Given the description of an element on the screen output the (x, y) to click on. 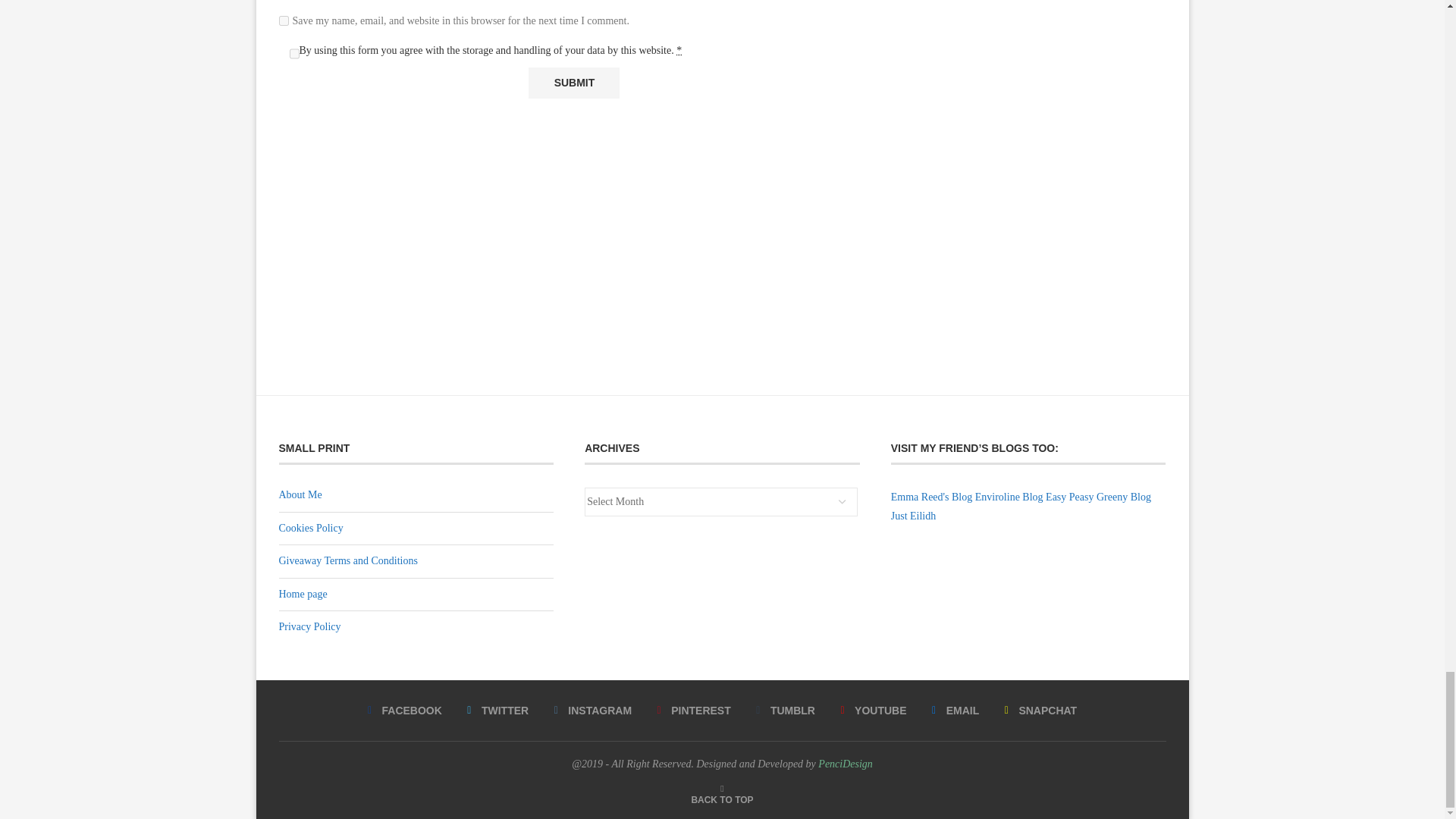
Submit (574, 82)
yes (283, 20)
